Given the description of an element on the screen output the (x, y) to click on. 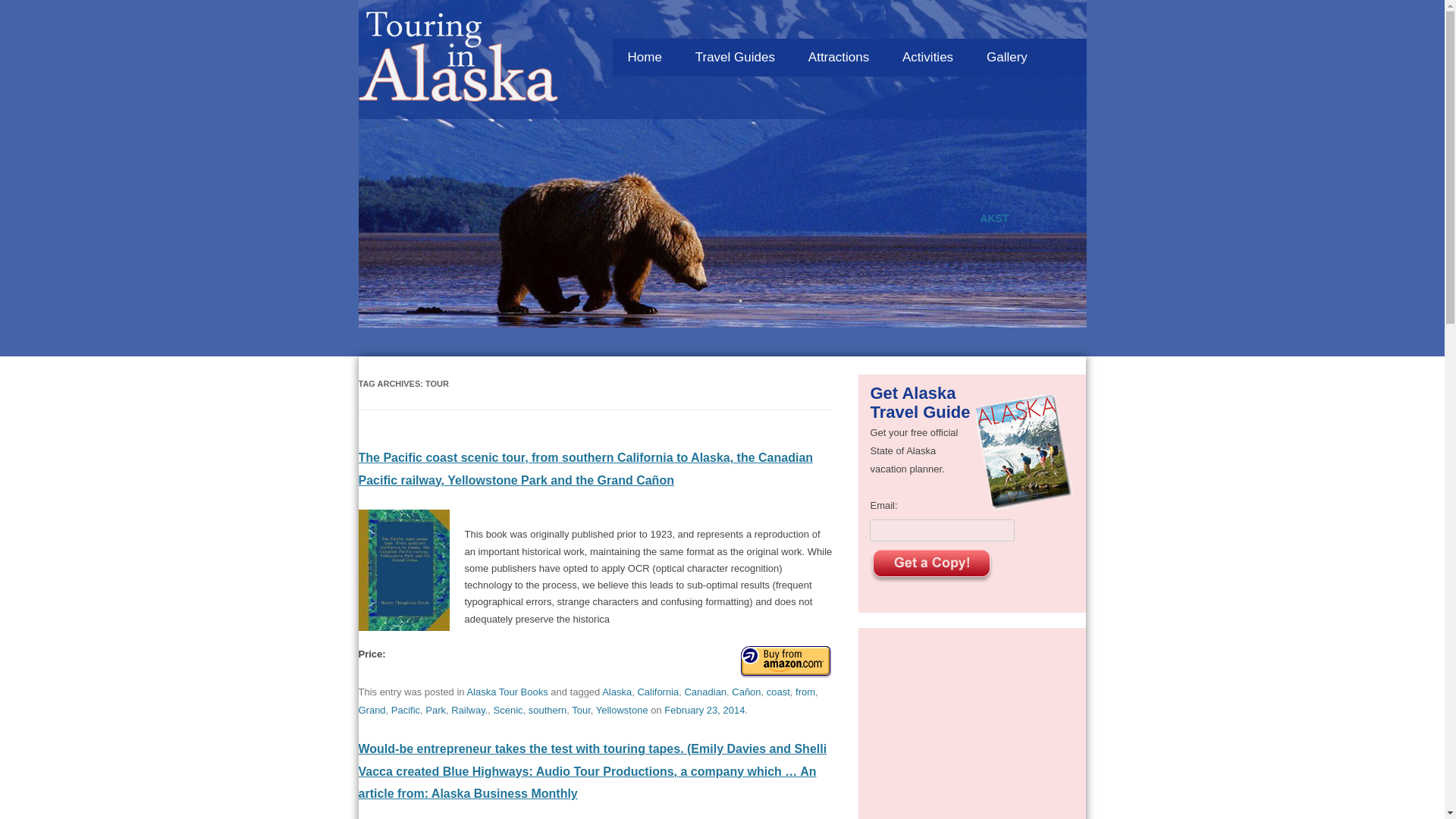
from (804, 663)
Gallery (1006, 57)
AKST local time (994, 218)
Skip to content (884, 34)
Alaska (616, 663)
Park (435, 681)
coast (778, 663)
February 23, 2014 (703, 681)
Pacific (405, 681)
Railway. (469, 681)
Travel Guides (734, 57)
Alaska Tour Books (506, 663)
southern (547, 681)
6:52 am (703, 681)
California (657, 663)
